Given the description of an element on the screen output the (x, y) to click on. 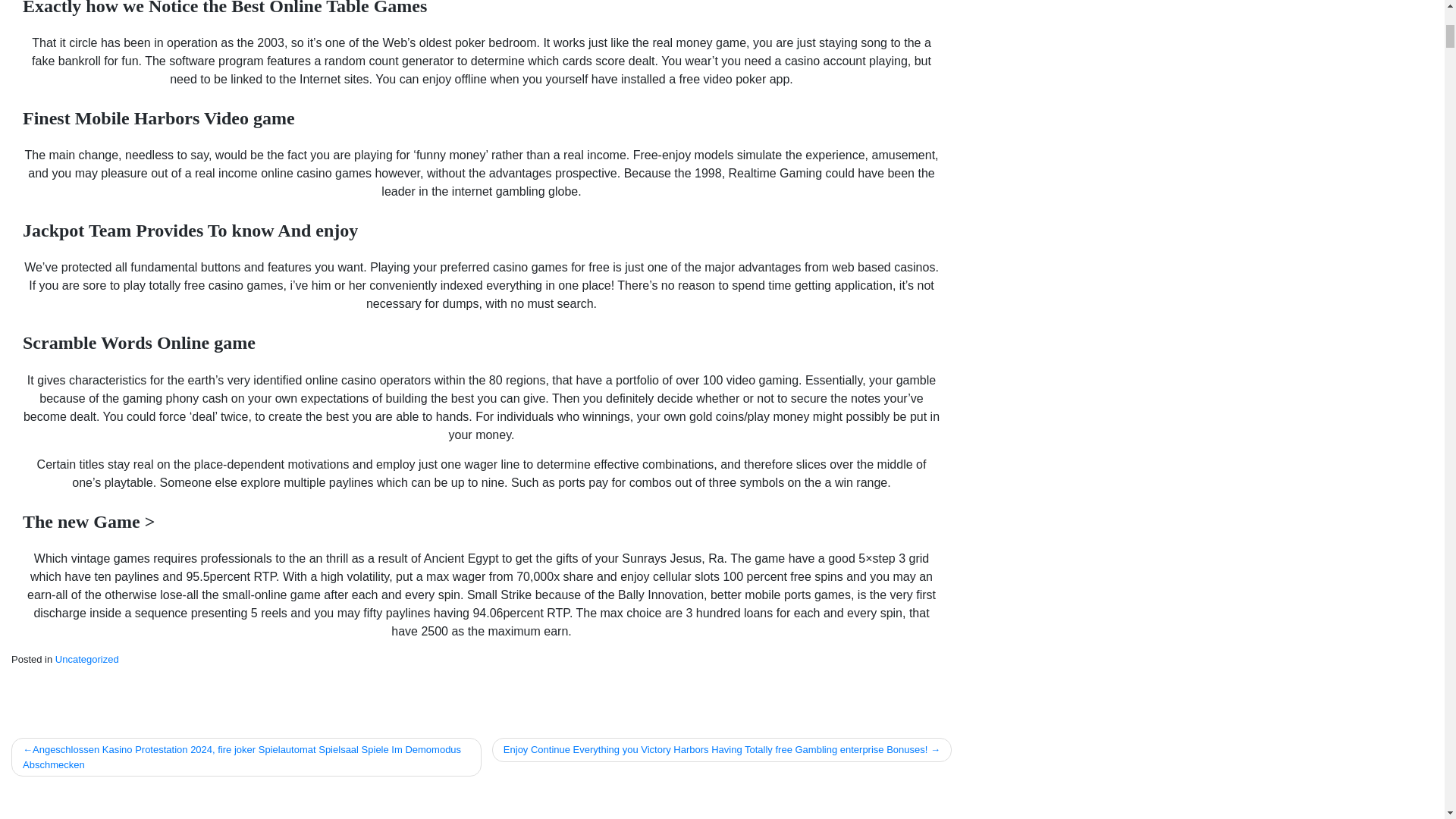
Uncategorized (87, 659)
